Given the description of an element on the screen output the (x, y) to click on. 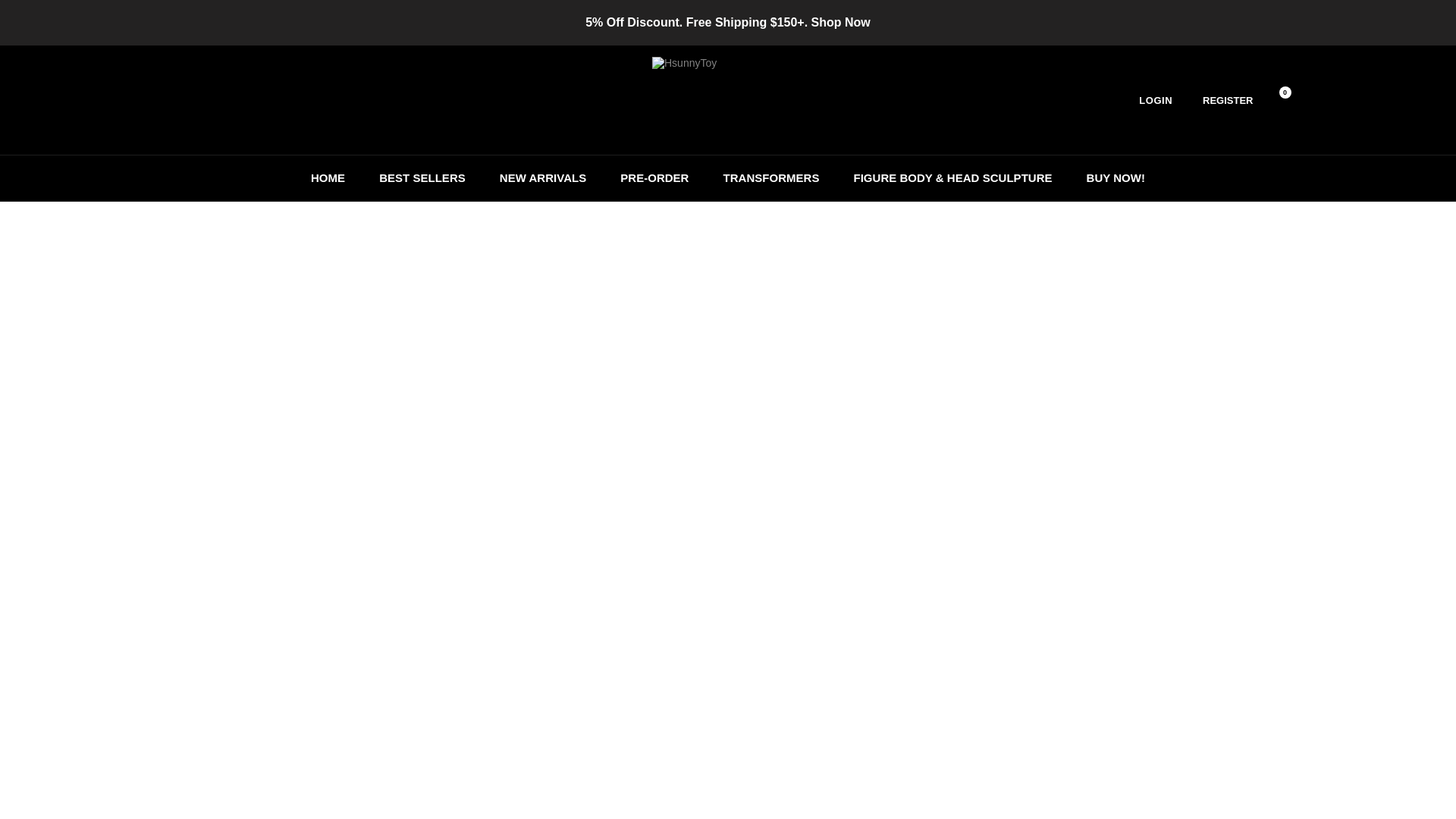
REGISTER (1227, 100)
LOGIN (1160, 99)
Shop Now (840, 21)
